Given the description of an element on the screen output the (x, y) to click on. 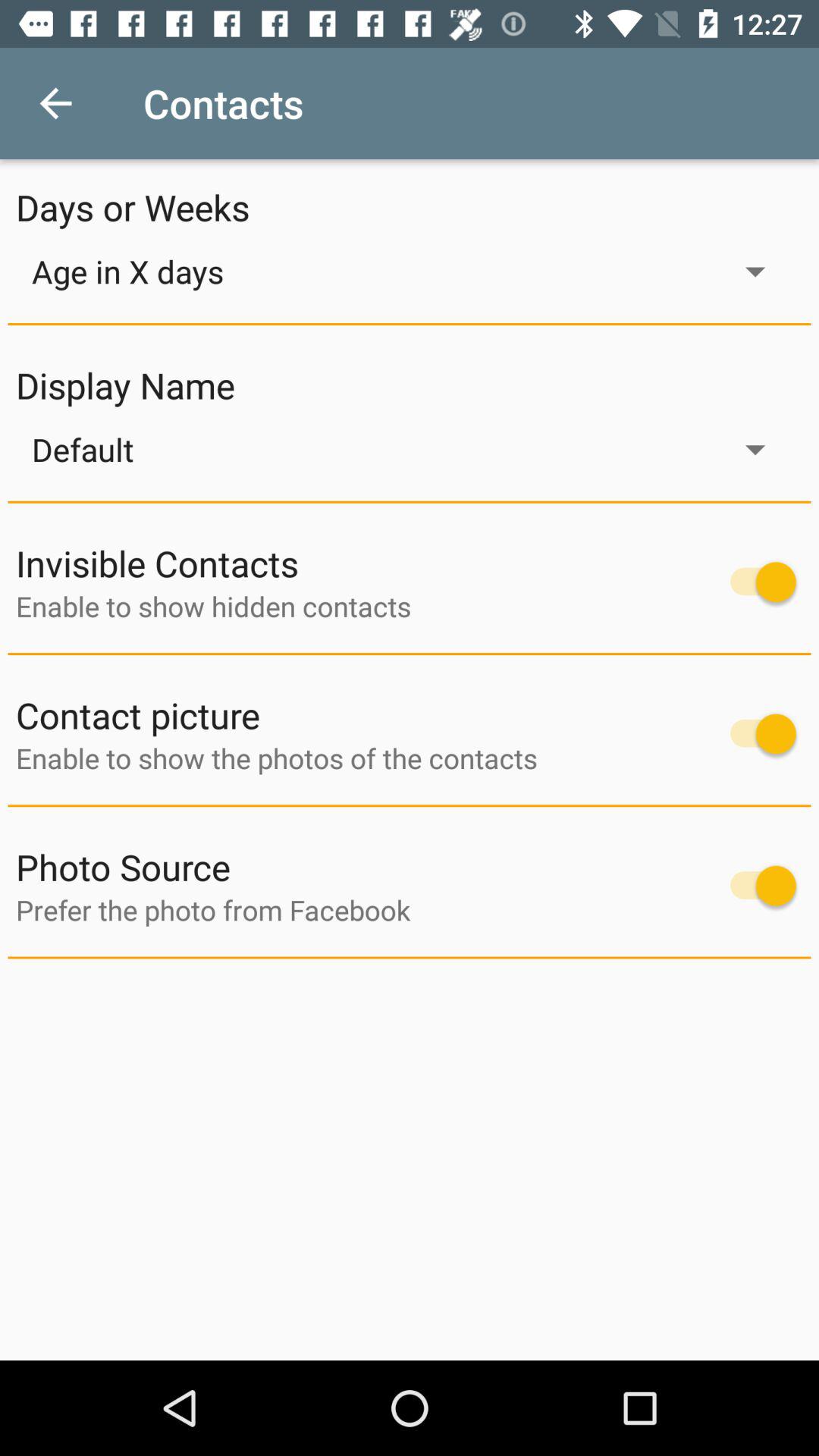
contact (755, 733)
